Given the description of an element on the screen output the (x, y) to click on. 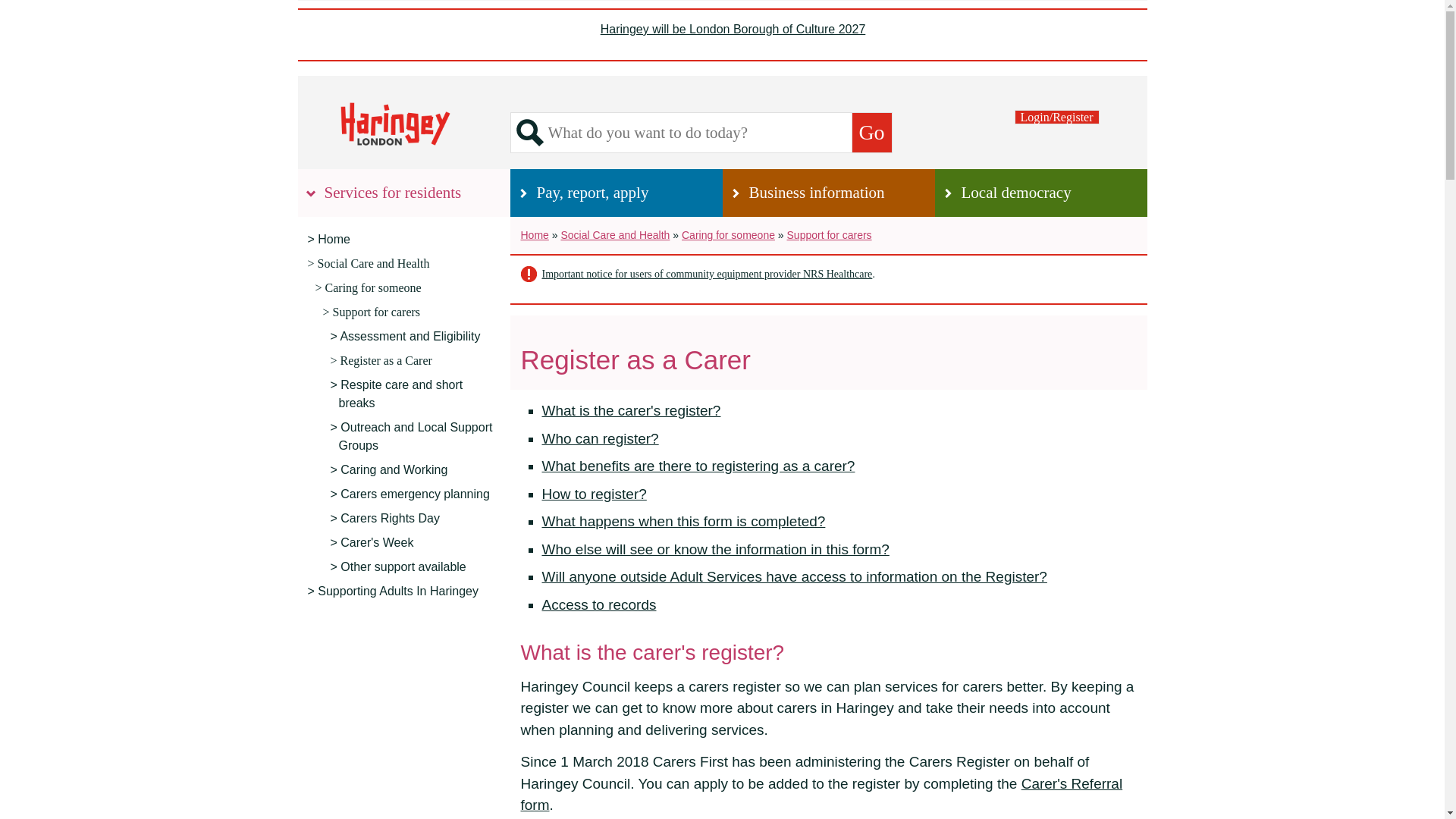
Outreach and Local Support Groups (414, 436)
Home (533, 234)
Home (403, 239)
Caring for someone (727, 234)
Support for carers (411, 312)
Enter the terms you wish to search for. (698, 132)
Supporting Adults In Haringey (403, 591)
Social Care and Health (403, 263)
Access to Records (598, 603)
Pay, report, apply (615, 192)
What is the carer's register? (630, 410)
Support for carers (829, 234)
